Given the description of an element on the screen output the (x, y) to click on. 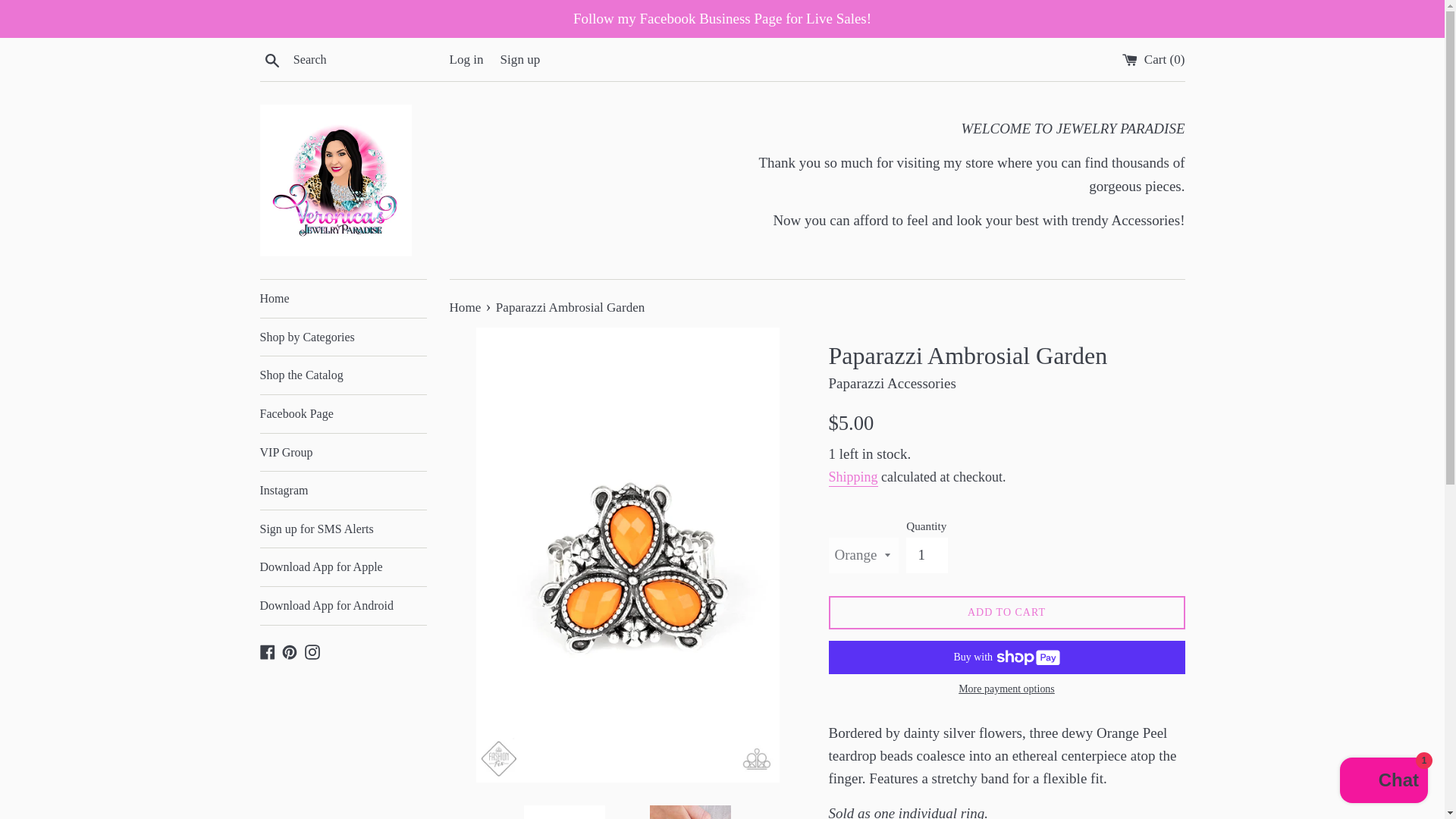
Shopify online store chat (1383, 781)
Back to the frontpage (465, 307)
Instagram (312, 650)
Veronica's Jewelry Paradise on Pinterest (289, 650)
Veronica's Jewelry Paradise on Instagram (312, 650)
Sign up (520, 59)
Facebook (267, 650)
Shipping (852, 477)
Download App for Android (342, 605)
Facebook Page (342, 413)
ADD TO CART (1006, 612)
Download App for Apple (342, 566)
Veronica's Jewelry Paradise on Facebook (267, 650)
Pinterest (289, 650)
Log in (465, 59)
